Given the description of an element on the screen output the (x, y) to click on. 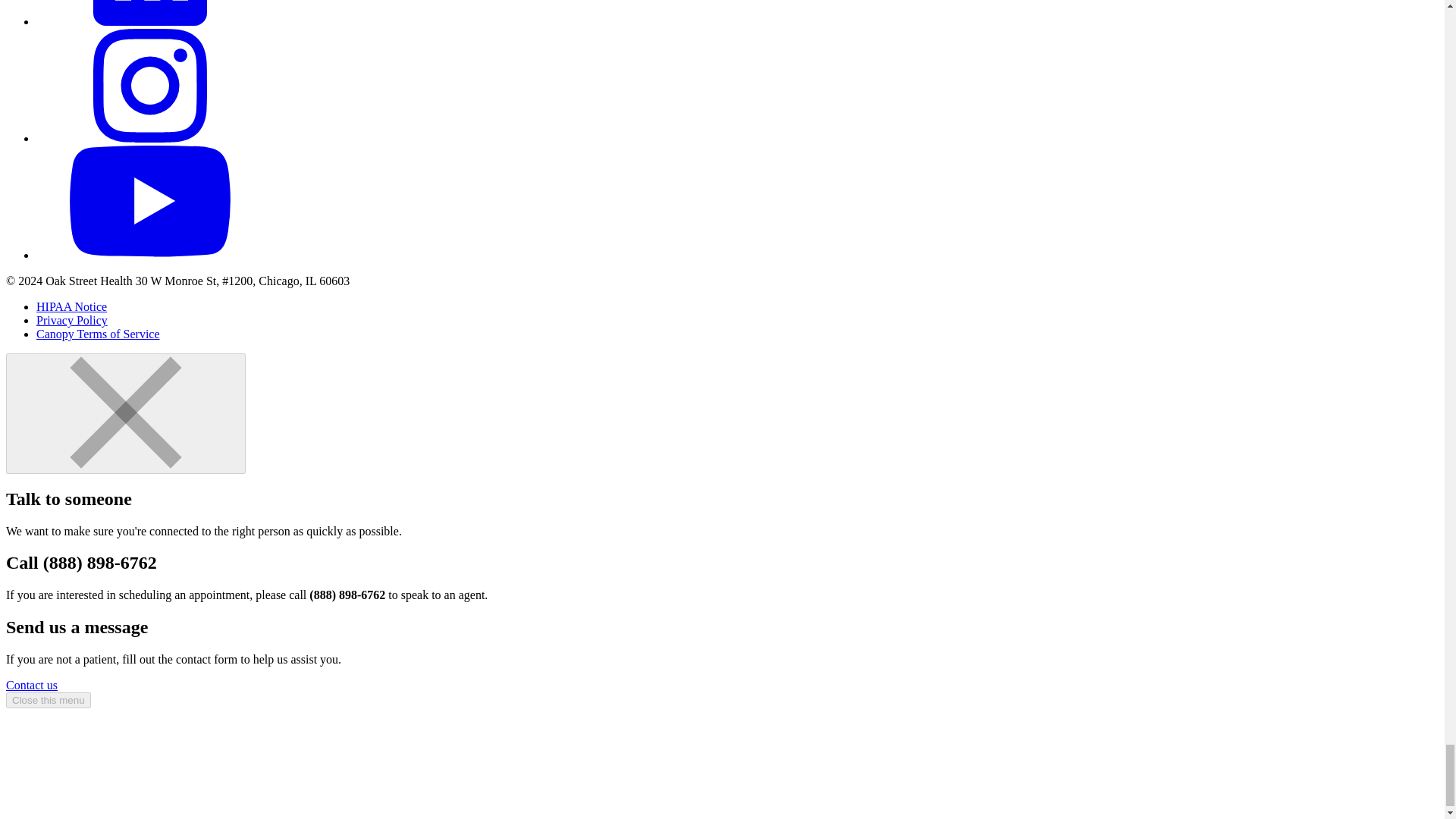
LinkedIn (149, 21)
YouTube (149, 254)
Instagram (149, 137)
